Given the description of an element on the screen output the (x, y) to click on. 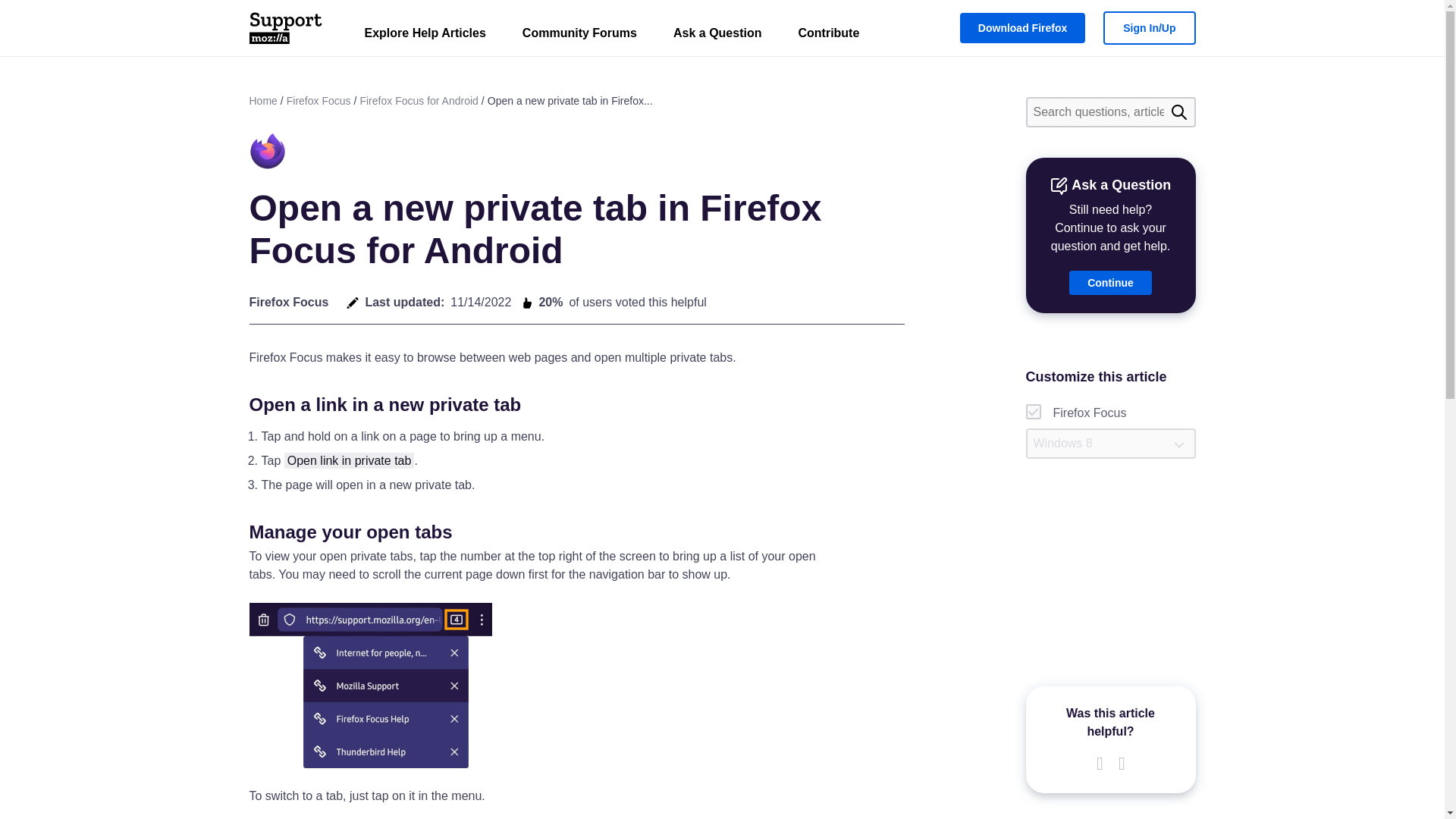
Explore Help Articles (424, 37)
Ask a Question (716, 37)
Community Forums (579, 37)
Search (1178, 111)
